Given the description of an element on the screen output the (x, y) to click on. 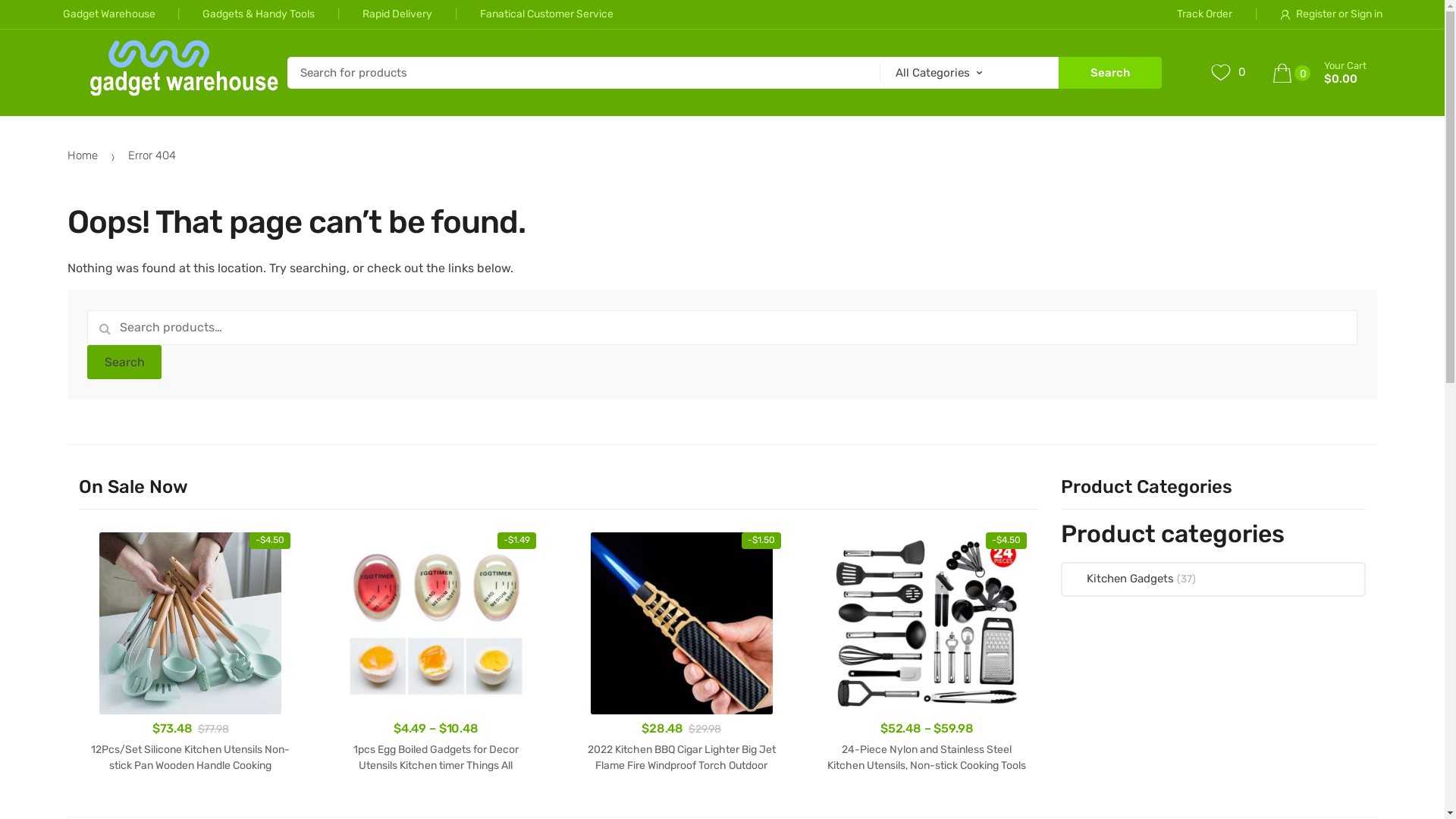
0
Your Cart
$0.00 Element type: text (1324, 72)
Search Element type: text (1109, 72)
Rapid Delivery Element type: text (373, 14)
Search Element type: text (124, 362)
Fanatical Customer Service Element type: text (522, 14)
Gadgets & Handy Tools Element type: text (234, 14)
Home Element type: text (82, 155)
0 Element type: text (1228, 72)
Register or Sign in Element type: text (1306, 14)
Gadget Warehouse Element type: text (108, 14)
Kitchen Gadgets Element type: text (1117, 579)
Track Order Element type: text (1204, 14)
